Given the description of an element on the screen output the (x, y) to click on. 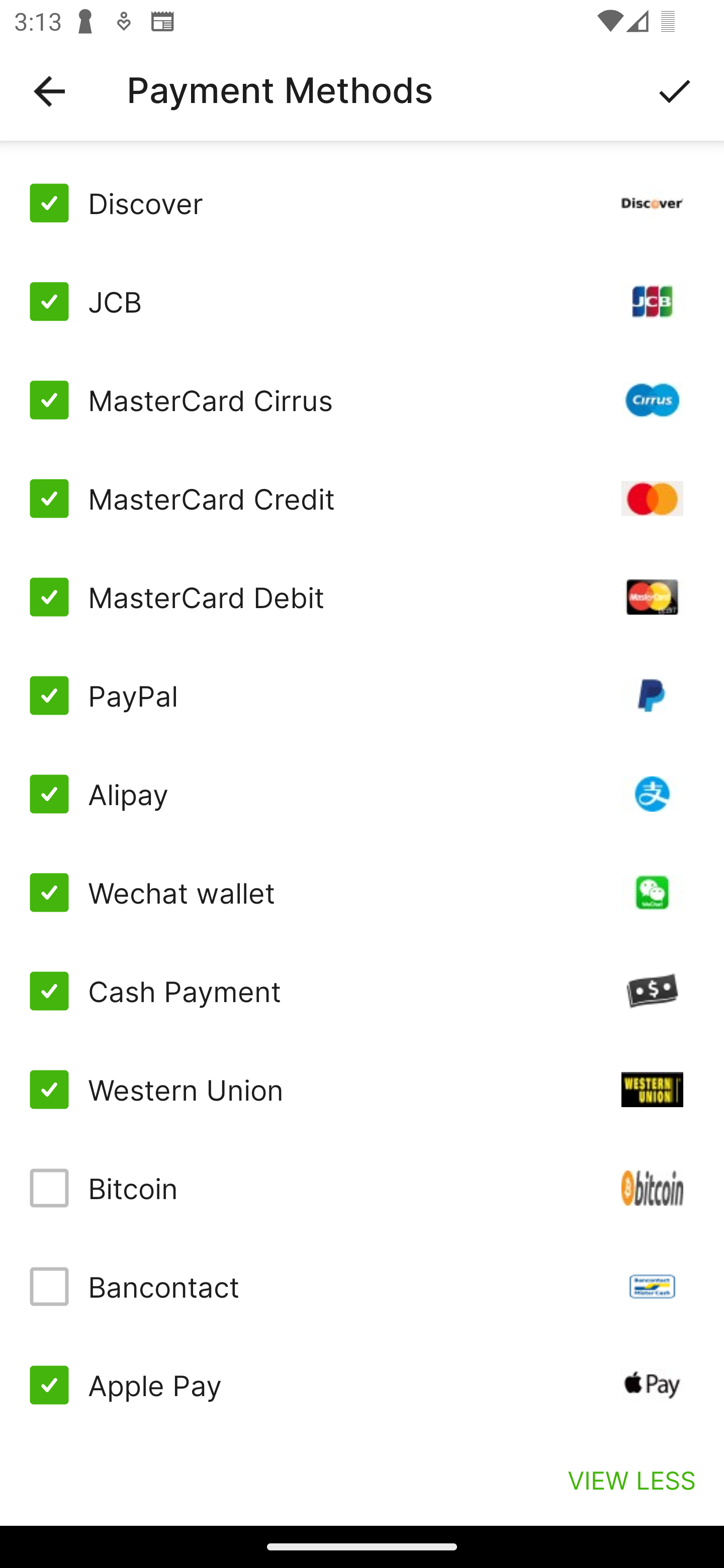
Discover (362, 202)
JCB (362, 301)
MasterCard Cirrus (362, 400)
MasterCard Credit (362, 498)
MasterCard Debit (362, 596)
PayPal (362, 695)
Alipay (362, 793)
Wechat wallet (362, 892)
Cash Payment (362, 990)
Western Union (362, 1088)
Bitcoin (362, 1187)
Bancontact (362, 1286)
Apple Pay (362, 1384)
VIEW LESS (631, 1479)
